Given the description of an element on the screen output the (x, y) to click on. 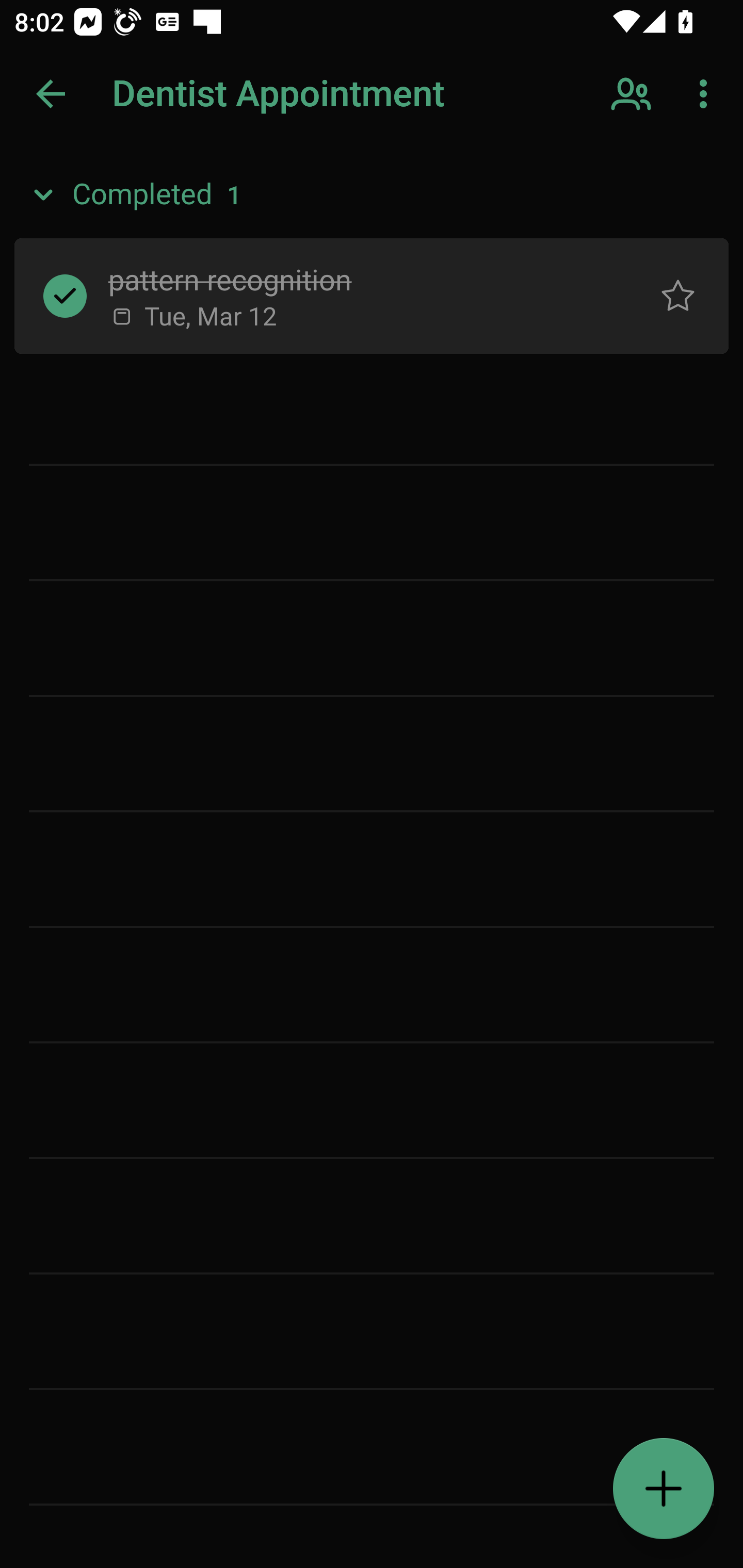
Back (50, 93)
Sharing options (632, 93)
More options (706, 93)
Completed, 1 item, Expanded Completed 1 (371, 195)
Completed task pattern recognition, Button (64, 295)
Normal task pattern recognition, Button (677, 295)
pattern recognition (356, 277)
Add a task (663, 1488)
